Given the description of an element on the screen output the (x, y) to click on. 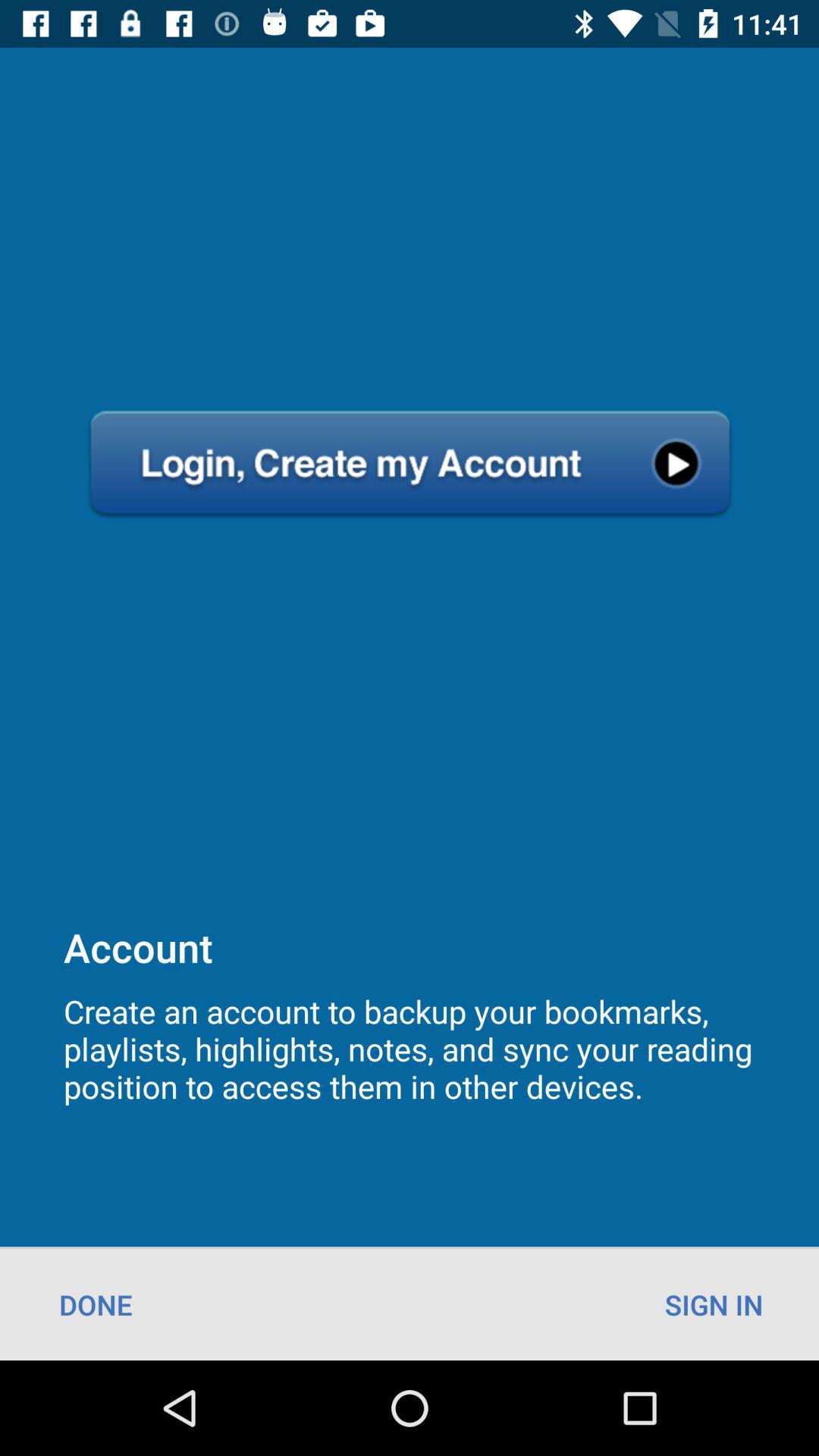
select the item next to the done item (713, 1304)
